Given the description of an element on the screen output the (x, y) to click on. 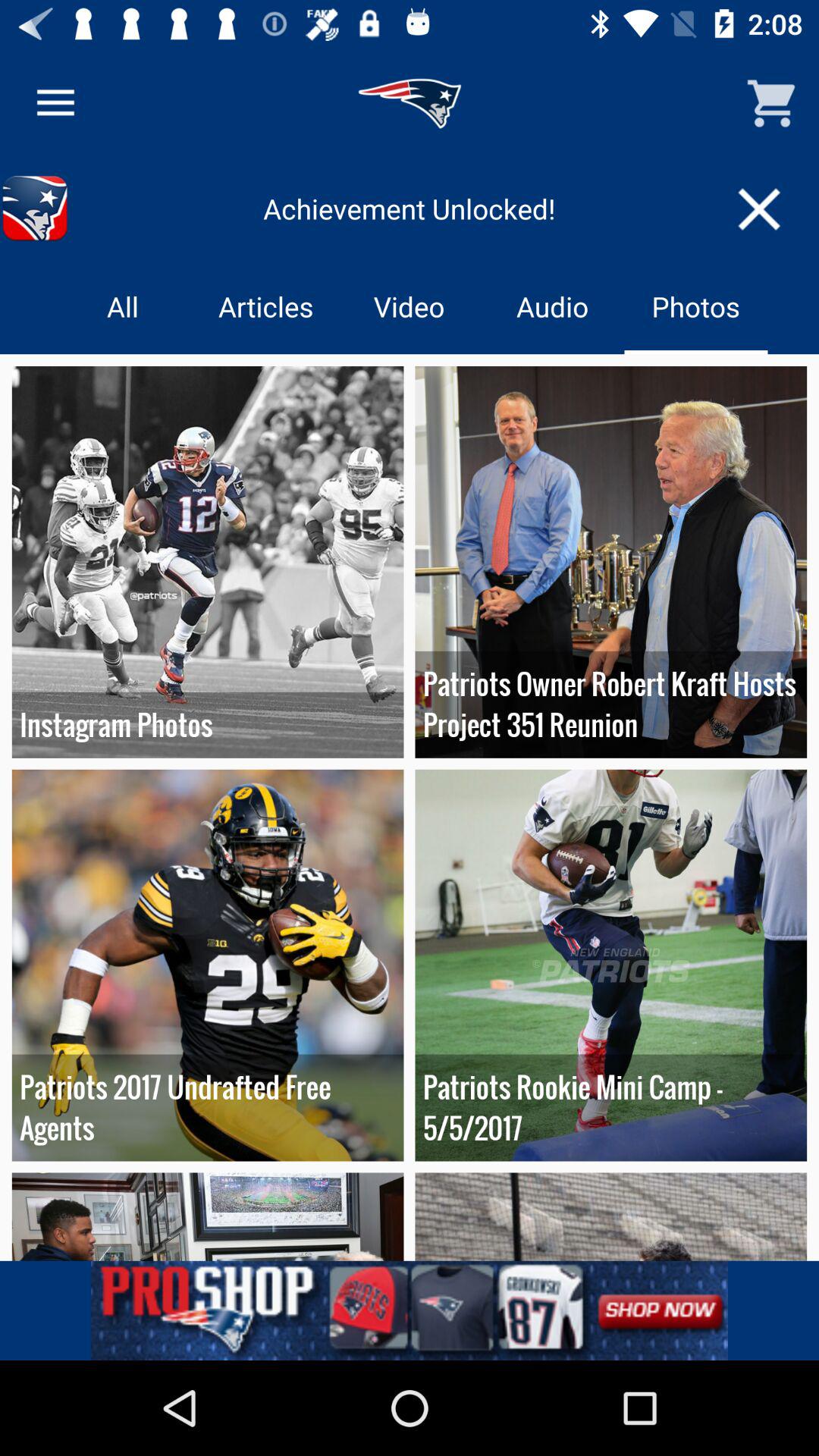
select the icon to the left side of cart icon (409, 103)
click on the image which is at the bottom left of the page (208, 1216)
click on the button which is left side of the articles (122, 306)
click on the left image of the first row (208, 562)
click on the button which is next to the audio (696, 306)
